Given the description of an element on the screen output the (x, y) to click on. 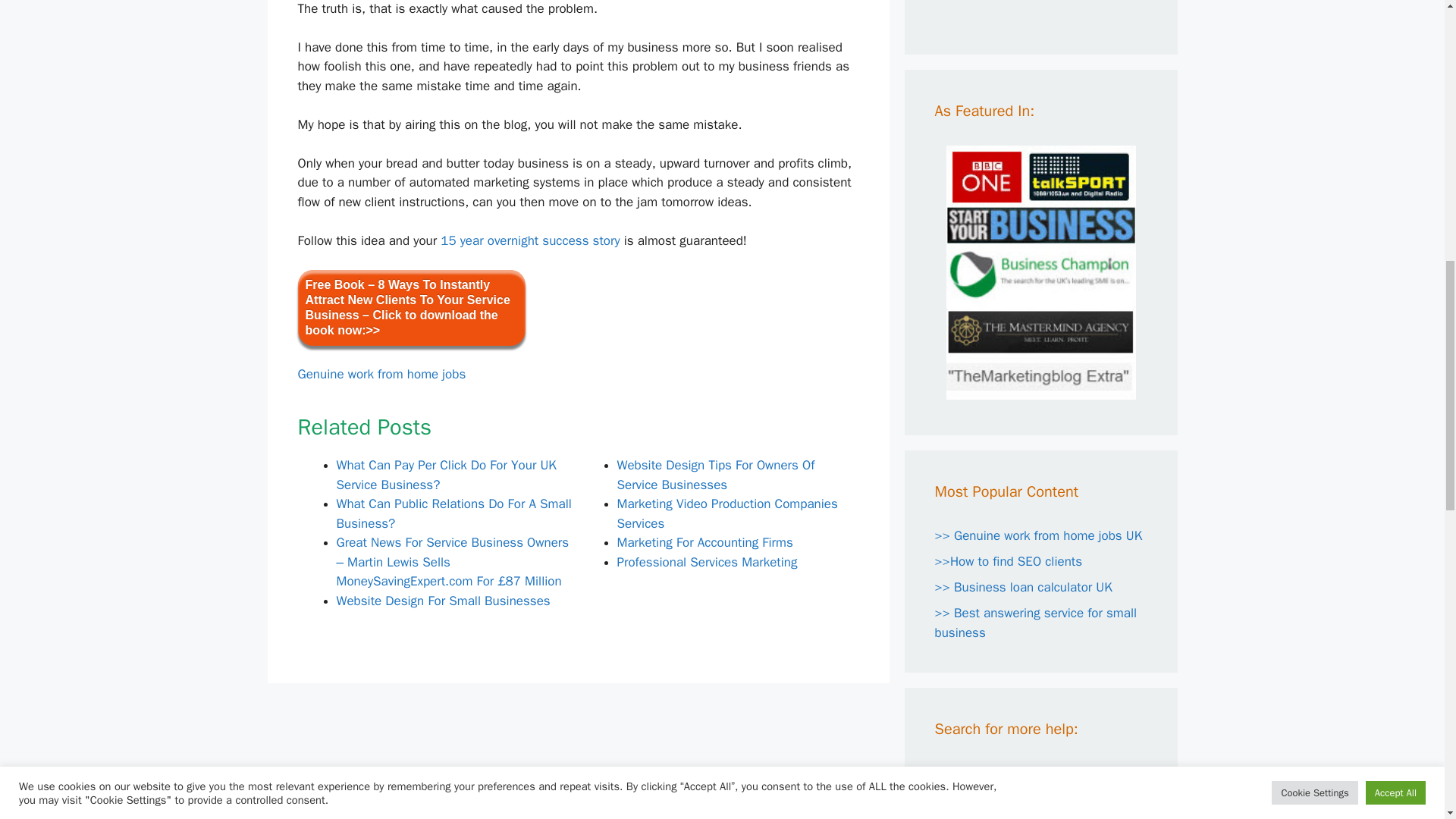
Advertisement (1071, 9)
Genuine work from home jobs (381, 374)
15 year overnight success story (530, 240)
